Given the description of an element on the screen output the (x, y) to click on. 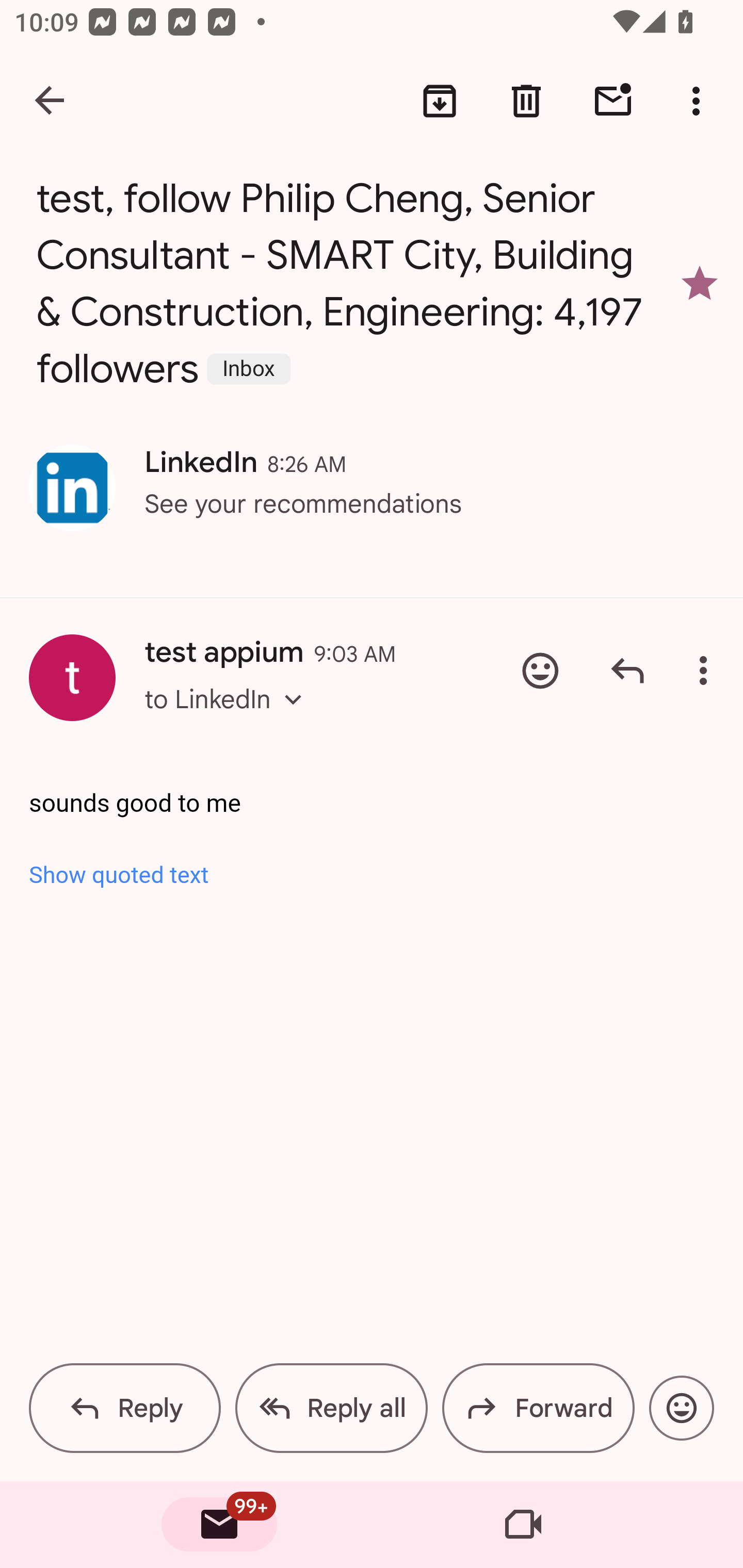
Navigate up (50, 101)
Archive (439, 101)
Delete (525, 101)
Mark unread (612, 101)
More options (699, 101)
Remove star (699, 283)
Show contact information for LinkedIn (71, 488)
Add emoji reaction (540, 670)
Reply (626, 670)
More options (706, 670)
Show contact information for test appium (71, 678)
to LinkedIn (229, 717)
Show quoted text (372, 873)
Reply (124, 1407)
Reply all (331, 1407)
Forward (538, 1407)
Add emoji reaction (681, 1407)
Meet (523, 1524)
